Given the description of an element on the screen output the (x, y) to click on. 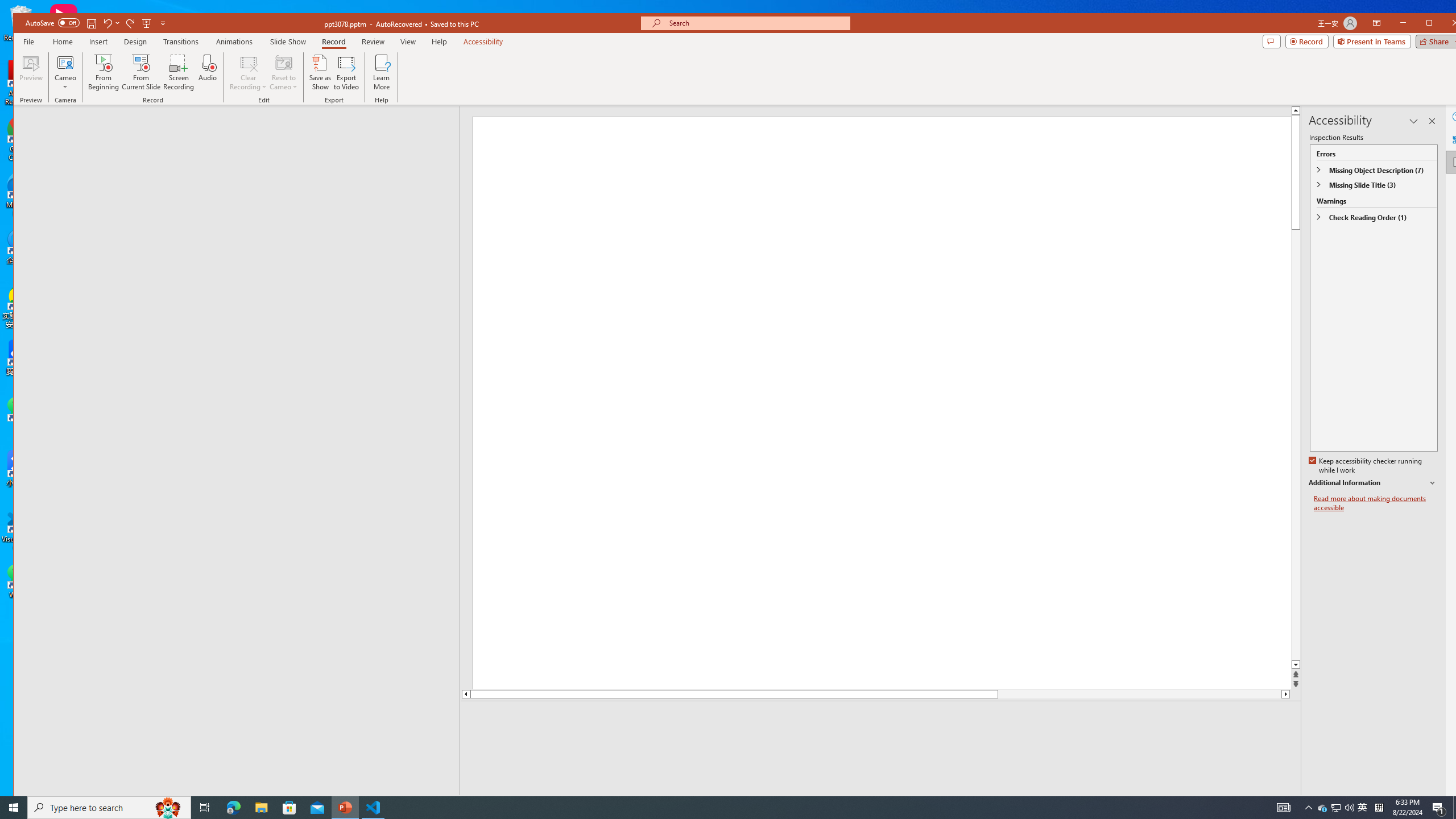
Learn More (381, 72)
From Beginning... (103, 72)
